Given the description of an element on the screen output the (x, y) to click on. 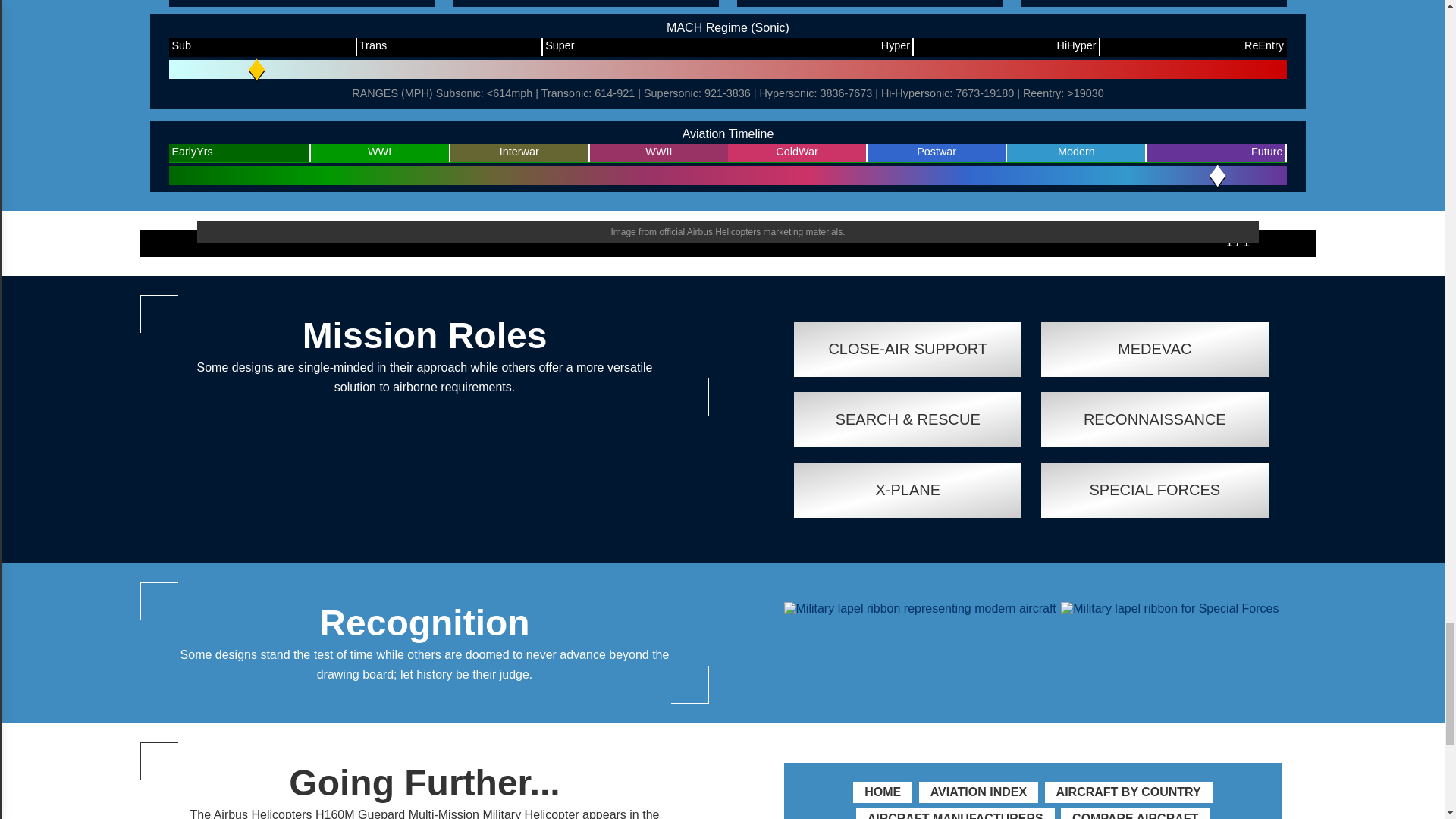
AVIATION INDEX (978, 791)
AIRCRAFT BY COUNTRY (1128, 791)
HOME (882, 791)
AIRCRAFT MANUFACTURERS (955, 815)
COMPARE AIRCRAFT (1135, 815)
